Given the description of an element on the screen output the (x, y) to click on. 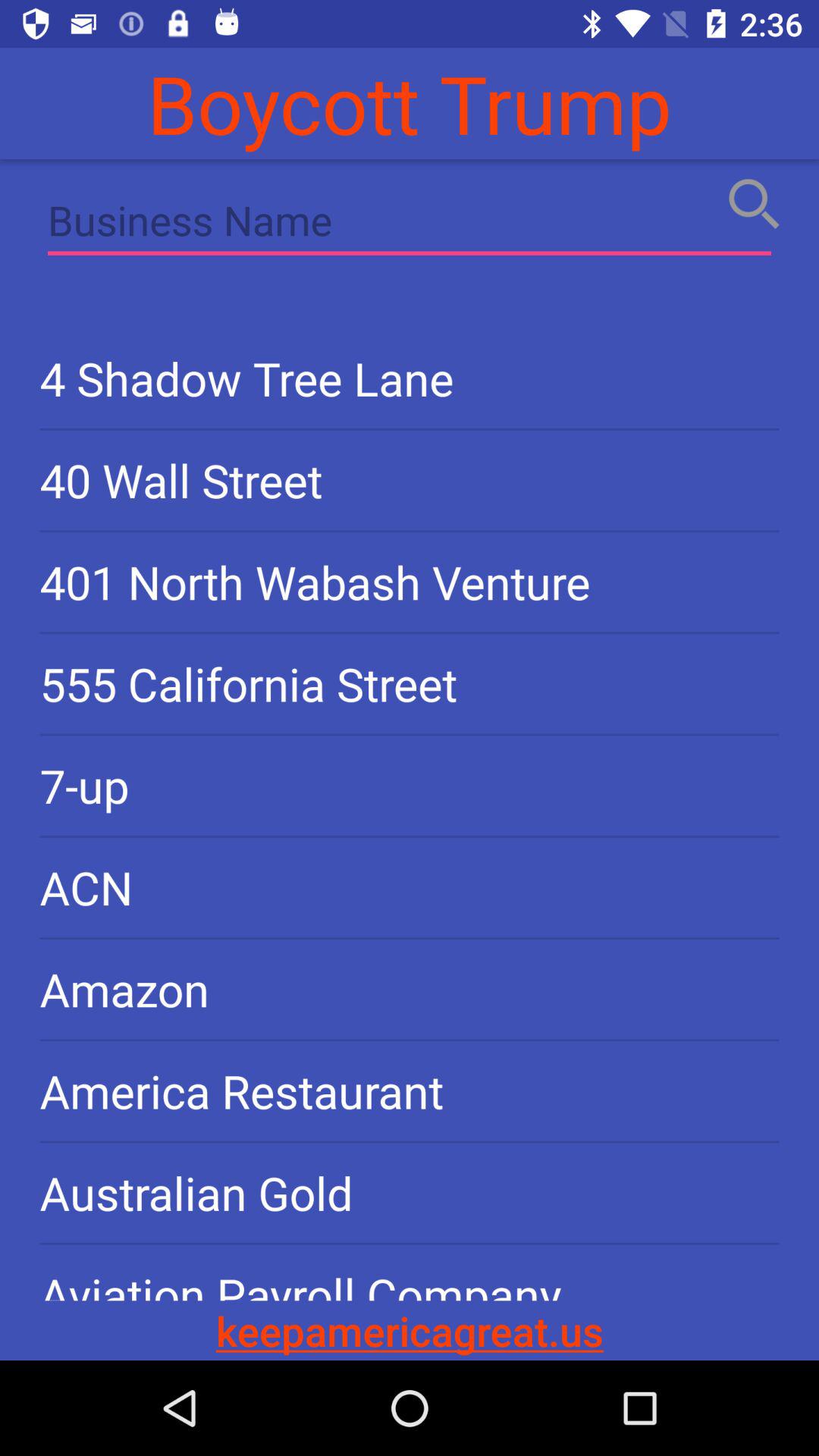
flip to the america restaurant (409, 1090)
